Given the description of an element on the screen output the (x, y) to click on. 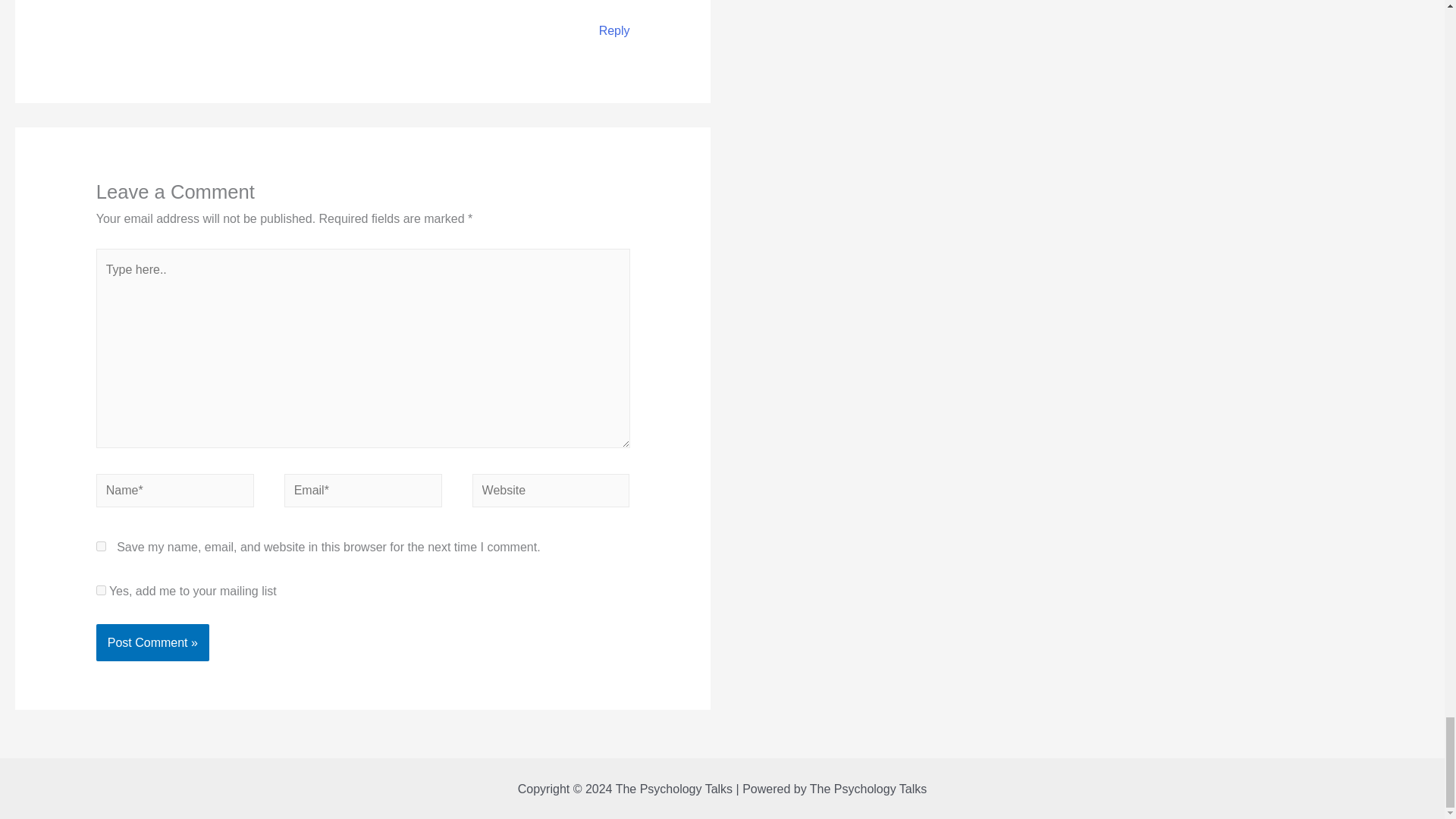
1 (101, 590)
yes (101, 546)
